Given the description of an element on the screen output the (x, y) to click on. 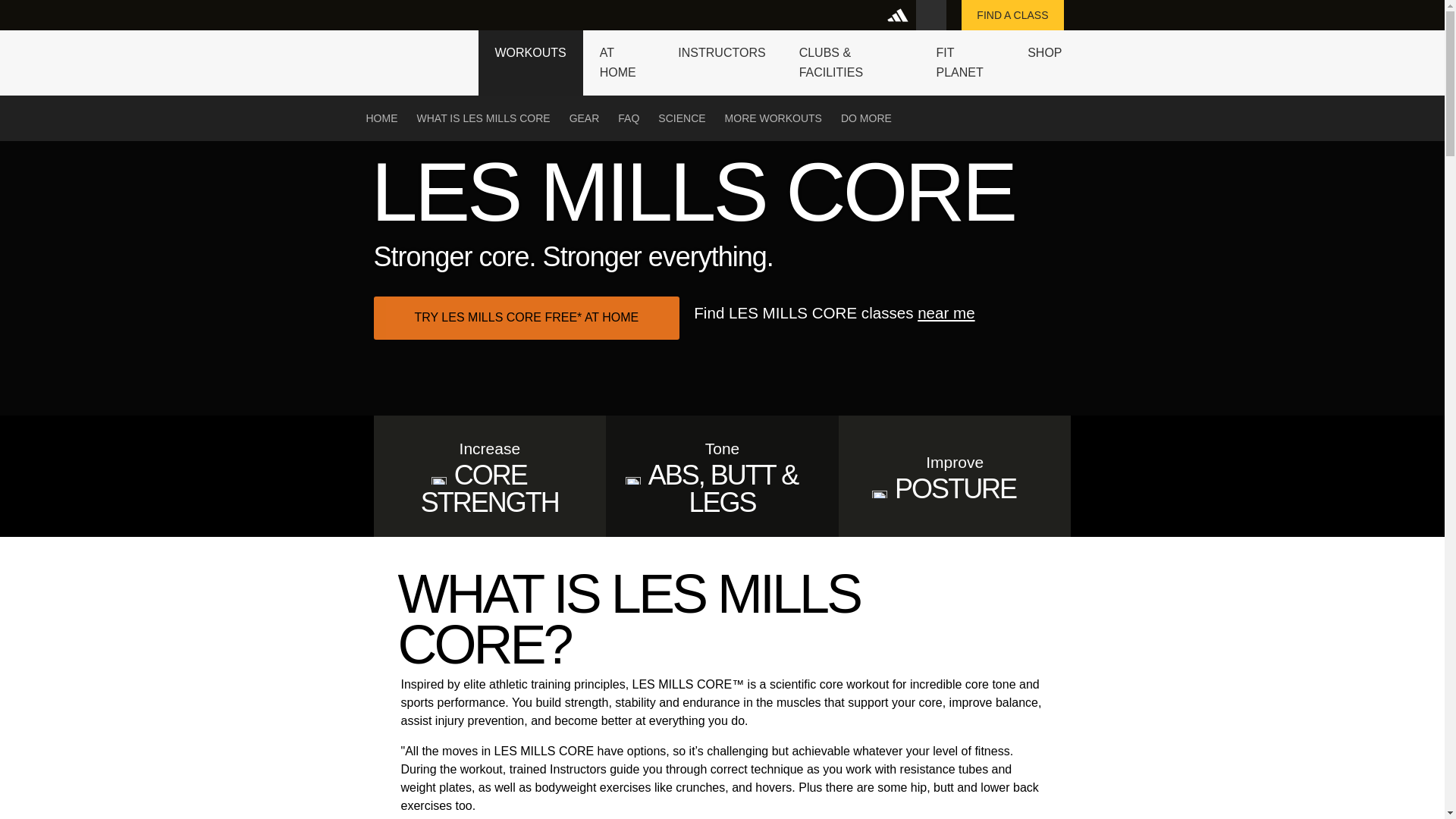
Adidas (900, 15)
Les Mills Home (415, 52)
FIND A CLASS (1011, 15)
